Given the description of an element on the screen output the (x, y) to click on. 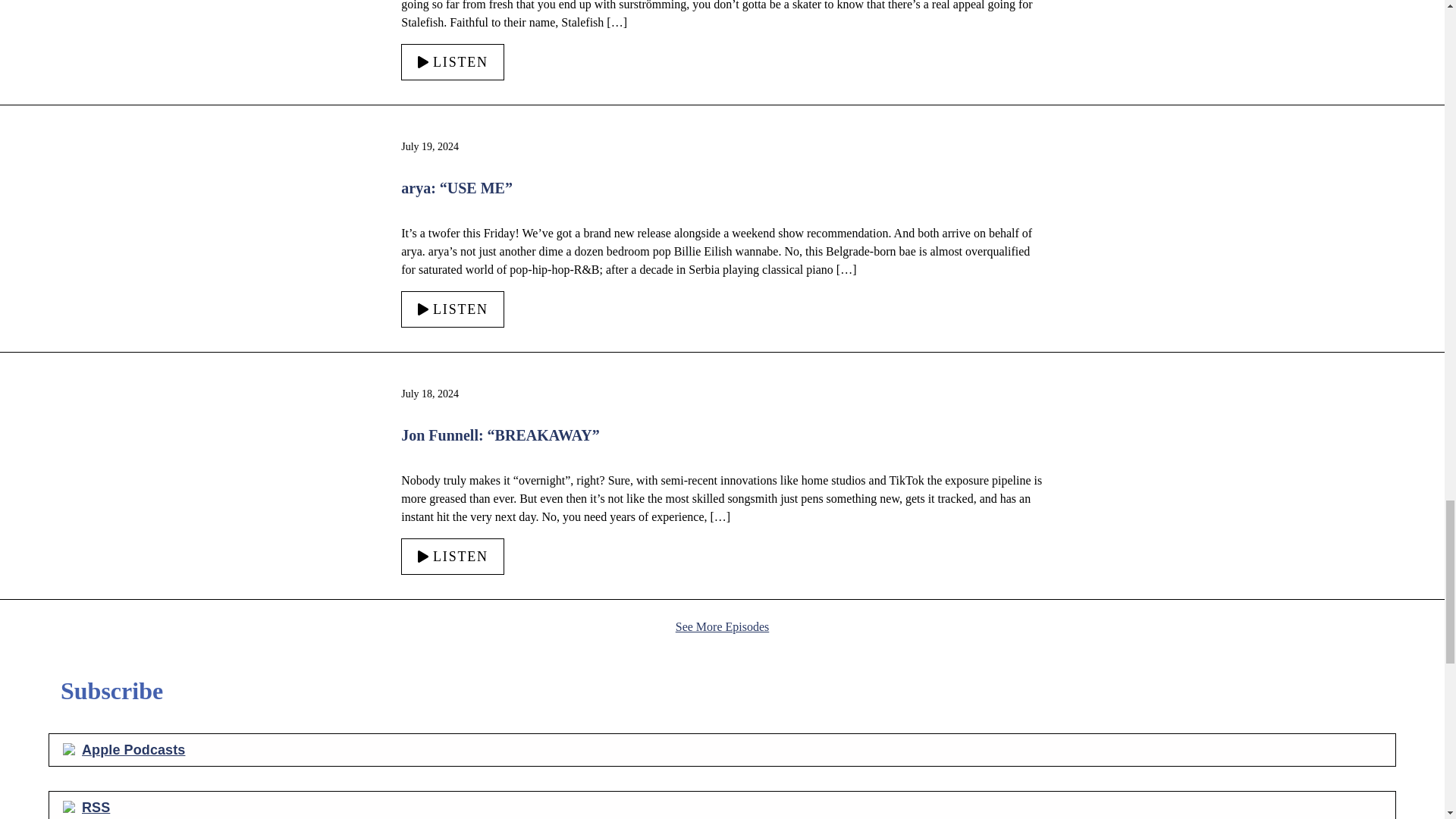
LISTEN (452, 309)
LISTEN (452, 62)
